Given the description of an element on the screen output the (x, y) to click on. 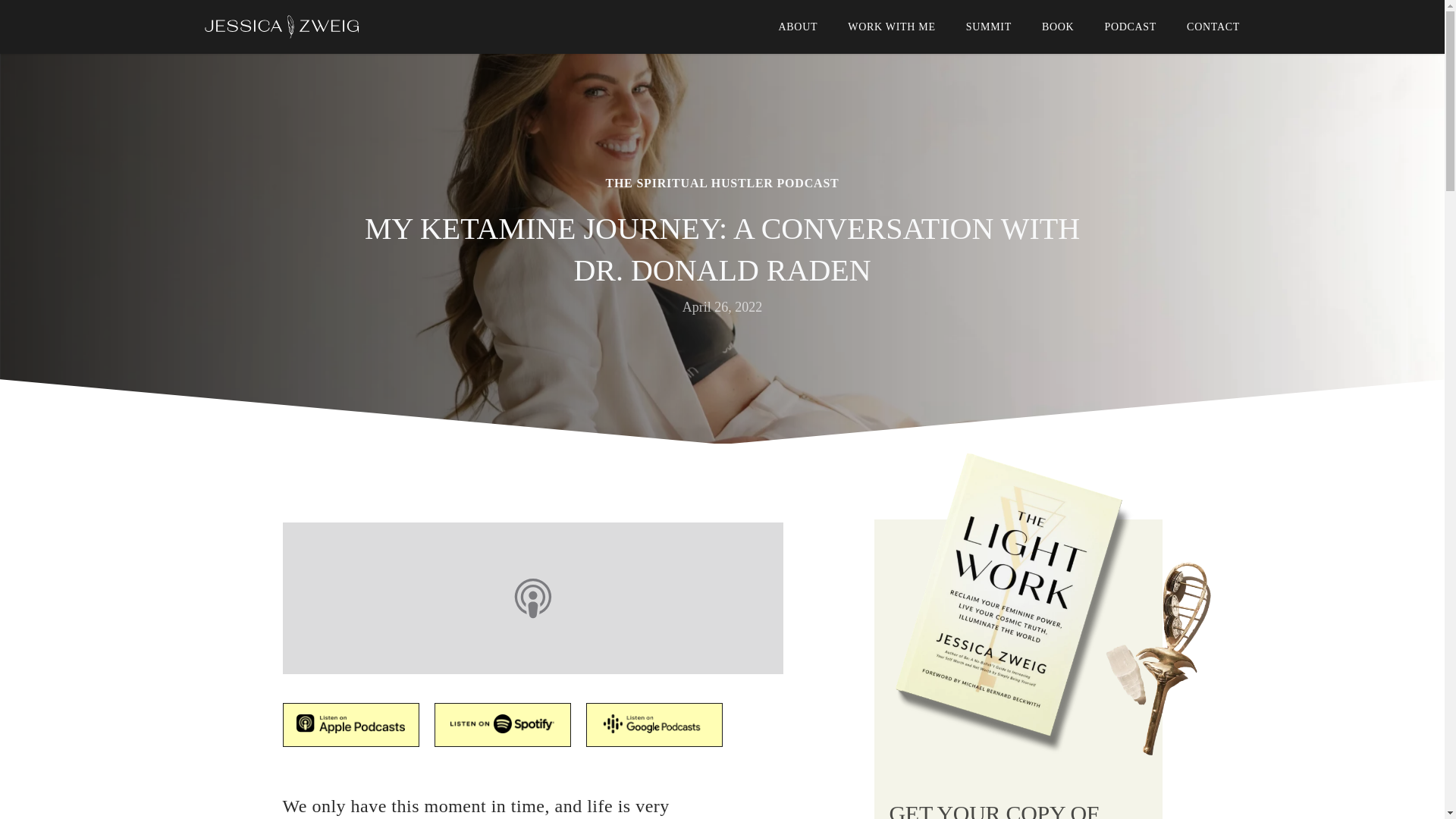
SUMMIT (988, 26)
WORK WITH ME (890, 26)
CONTACT (1213, 26)
PODCAST (1129, 26)
BOOK (1058, 26)
ABOUT (796, 26)
